Given the description of an element on the screen output the (x, y) to click on. 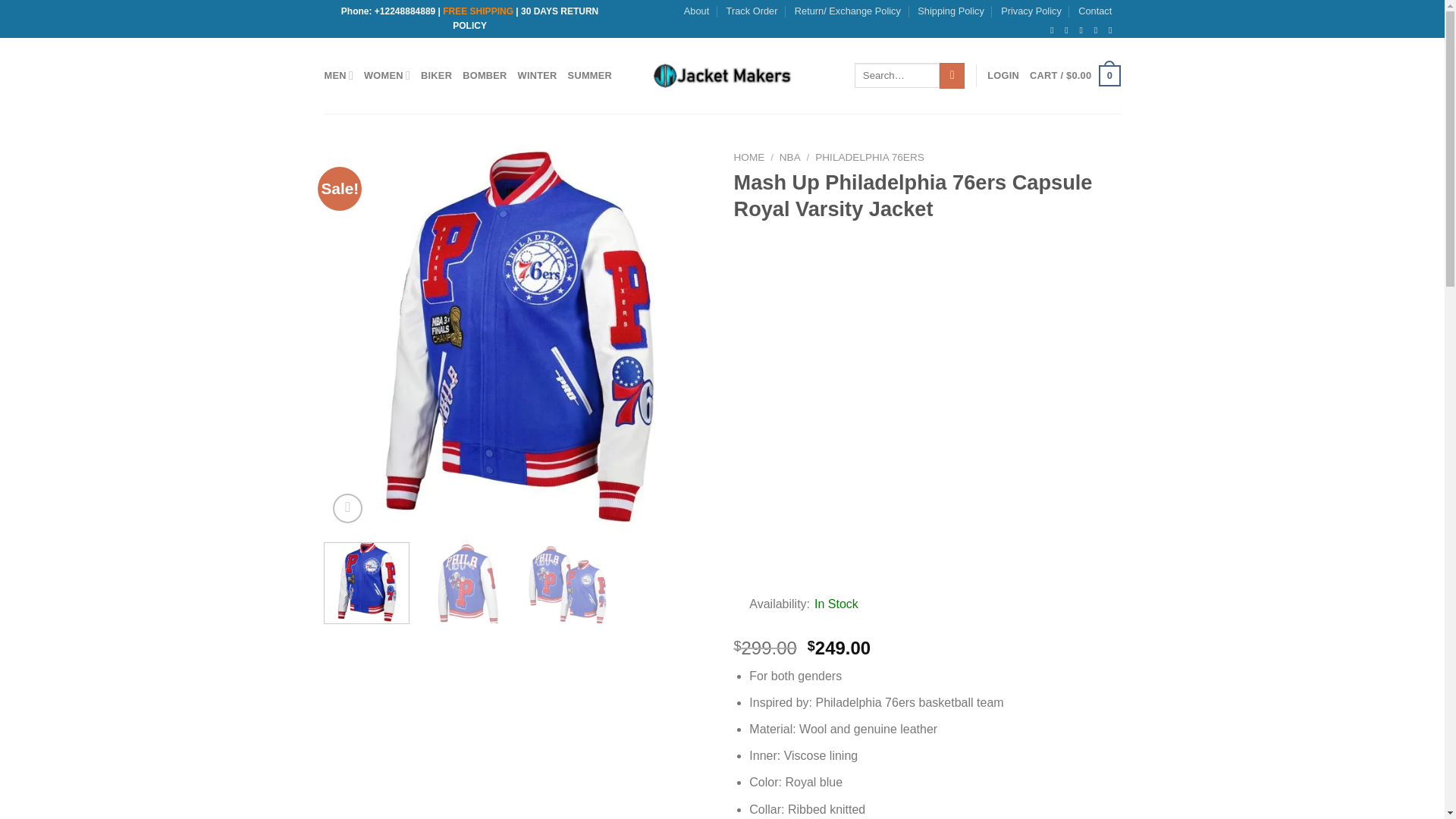
Track Order (751, 11)
About (696, 11)
MEN (338, 75)
Contact (1095, 11)
Cart (1074, 75)
Privacy Policy (1031, 11)
Shipping Policy (950, 11)
Zoom (347, 508)
